Given the description of an element on the screen output the (x, y) to click on. 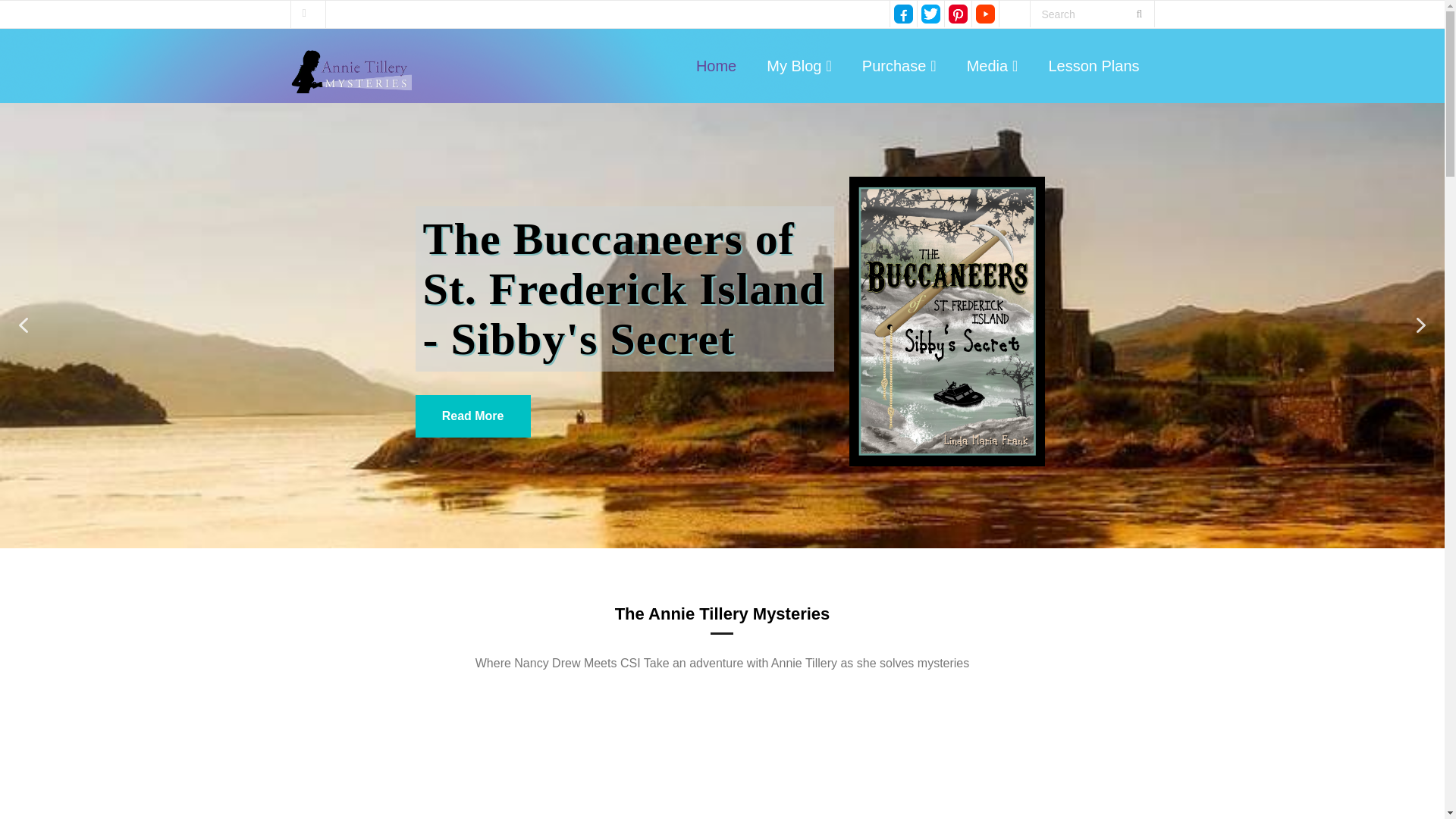
Search (35, 17)
My Blog (799, 65)
Purchase (899, 65)
Home (716, 65)
Lesson Plans (1093, 65)
Media (992, 65)
